Given the description of an element on the screen output the (x, y) to click on. 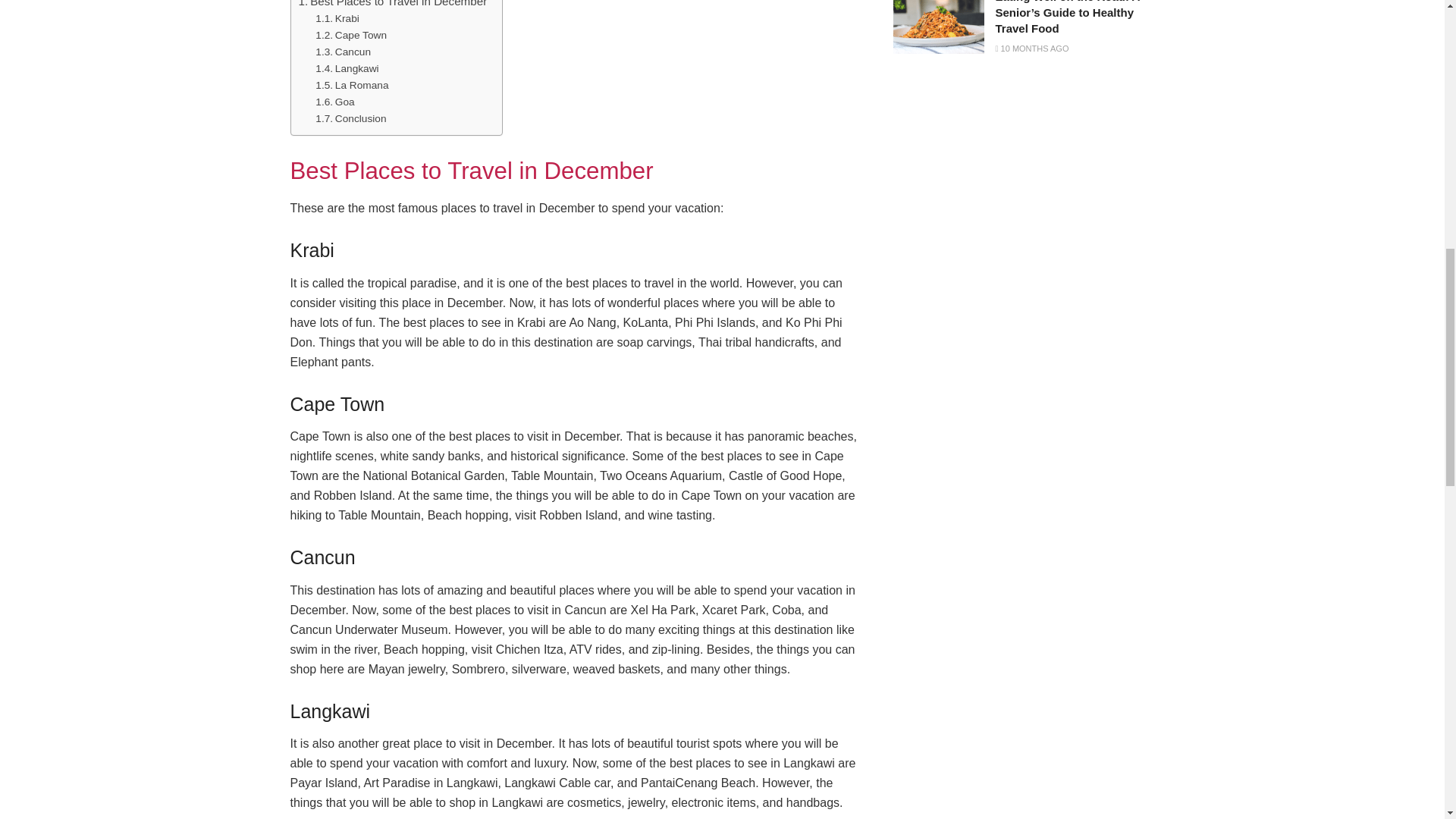
Best Places to Travel in December (392, 5)
Cancun (343, 52)
Langkawi (346, 68)
La Romana (351, 85)
Cape Town (351, 35)
Conclusion (350, 118)
Goa (334, 102)
Krabi (336, 18)
